Given the description of an element on the screen output the (x, y) to click on. 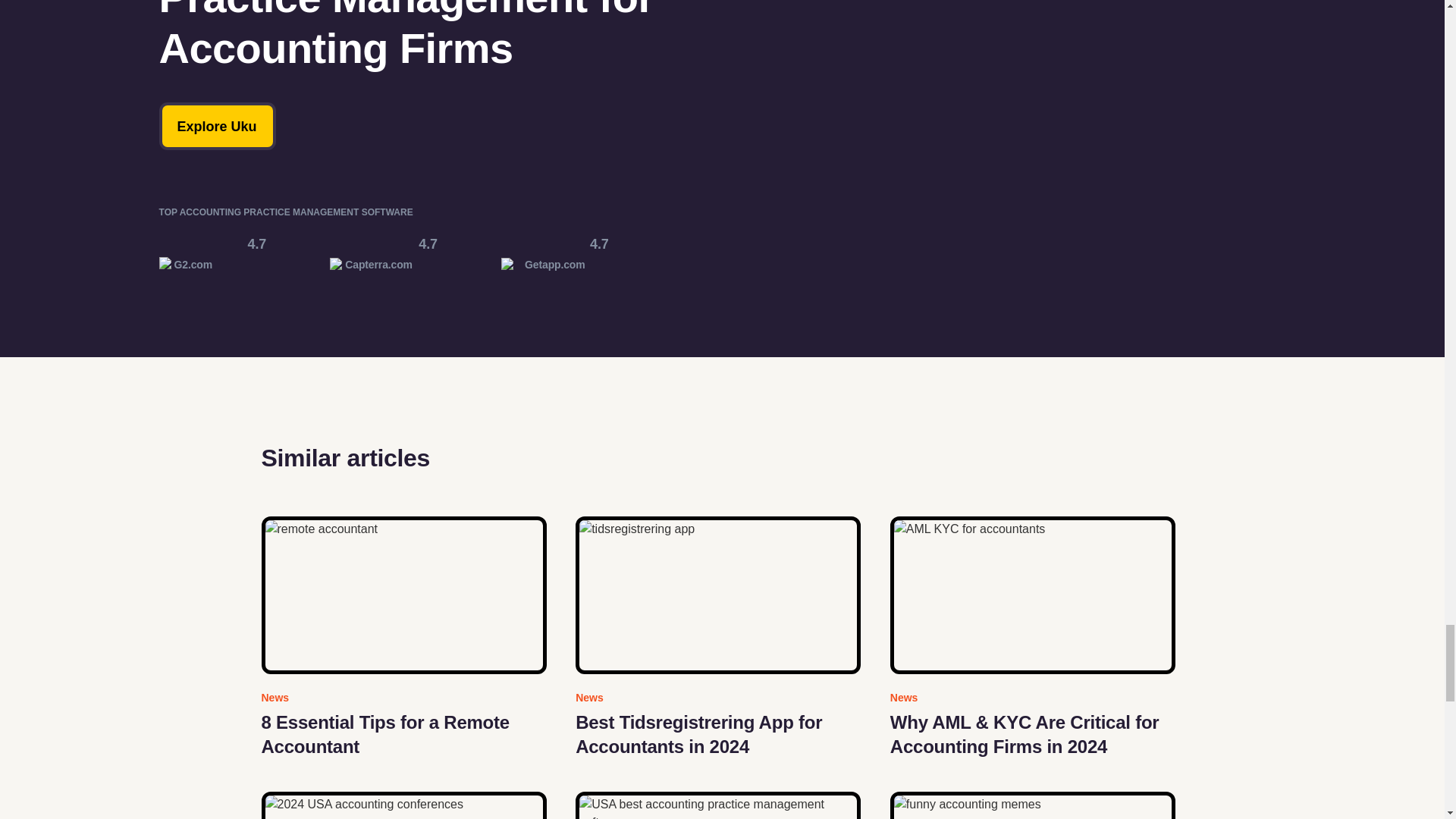
USA best accounting practice management software (717, 805)
meme header (1031, 805)
AML KYC for accountants (1031, 595)
Tidsregisrering app (717, 595)
